Given the description of an element on the screen output the (x, y) to click on. 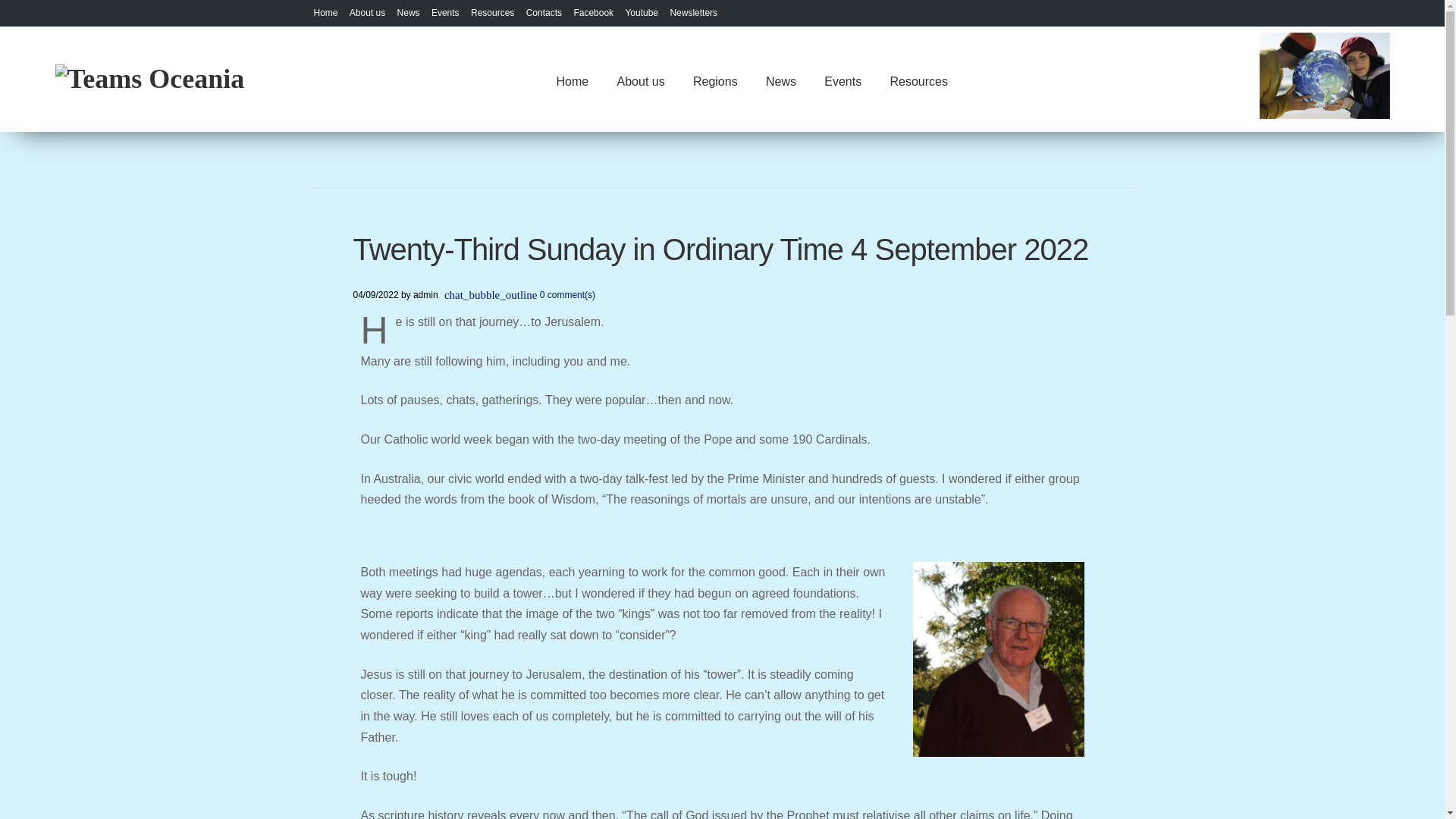
Home (325, 12)
Resources (491, 12)
Events (843, 78)
Home (571, 78)
News (780, 78)
About us (367, 12)
Youtube (641, 12)
Contacts (543, 12)
admin (425, 294)
Events (445, 12)
News (408, 12)
Regions (714, 78)
Resources (919, 78)
Facebook (592, 12)
About us (640, 78)
